Given the description of an element on the screen output the (x, y) to click on. 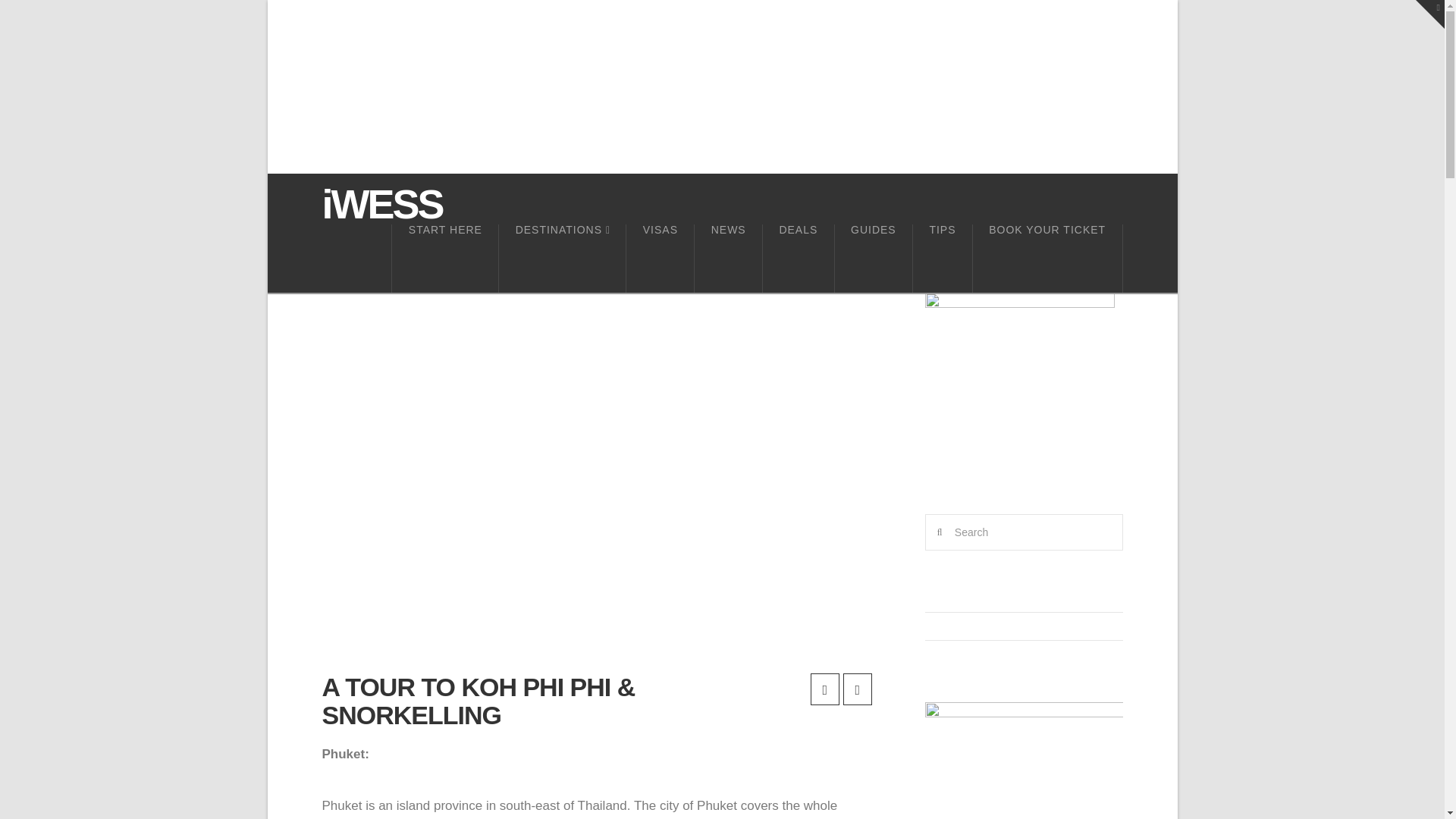
VISAS (660, 258)
GUIDES (873, 258)
iWESS - A Pakistani Traveler (381, 203)
DEALS (797, 258)
BOOK YOUR TICKET (1047, 258)
iWESS (381, 203)
DESTINATIONS (561, 258)
NEWS (727, 258)
START HERE (444, 258)
